Given the description of an element on the screen output the (x, y) to click on. 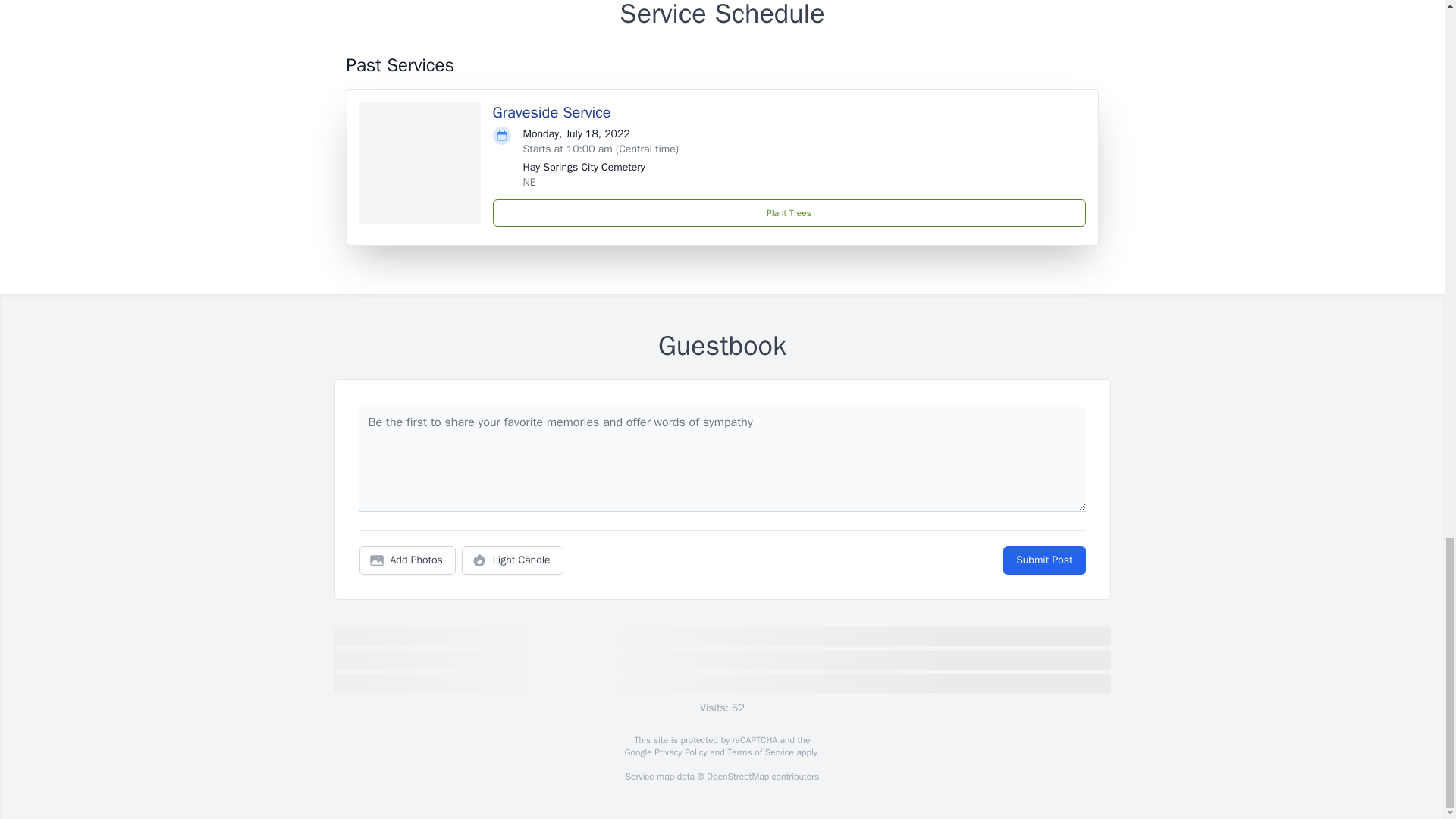
Submit Post (1043, 560)
Terms of Service (759, 752)
Add Photos (407, 560)
Light Candle (512, 560)
OpenStreetMap (737, 776)
NE (528, 182)
Privacy Policy (679, 752)
Plant Trees (789, 212)
